Given the description of an element on the screen output the (x, y) to click on. 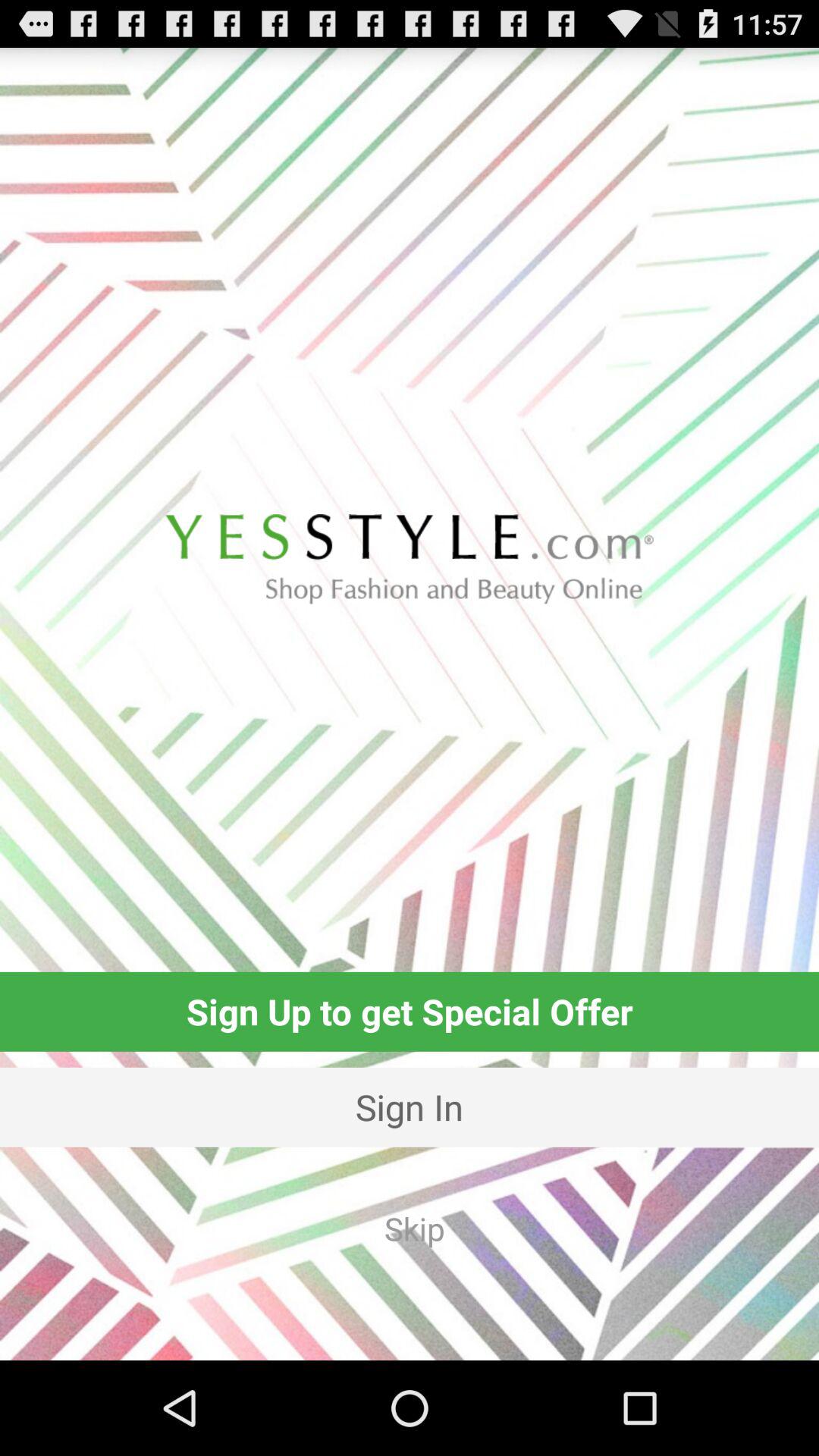
tap item below sign up to icon (409, 1107)
